Given the description of an element on the screen output the (x, y) to click on. 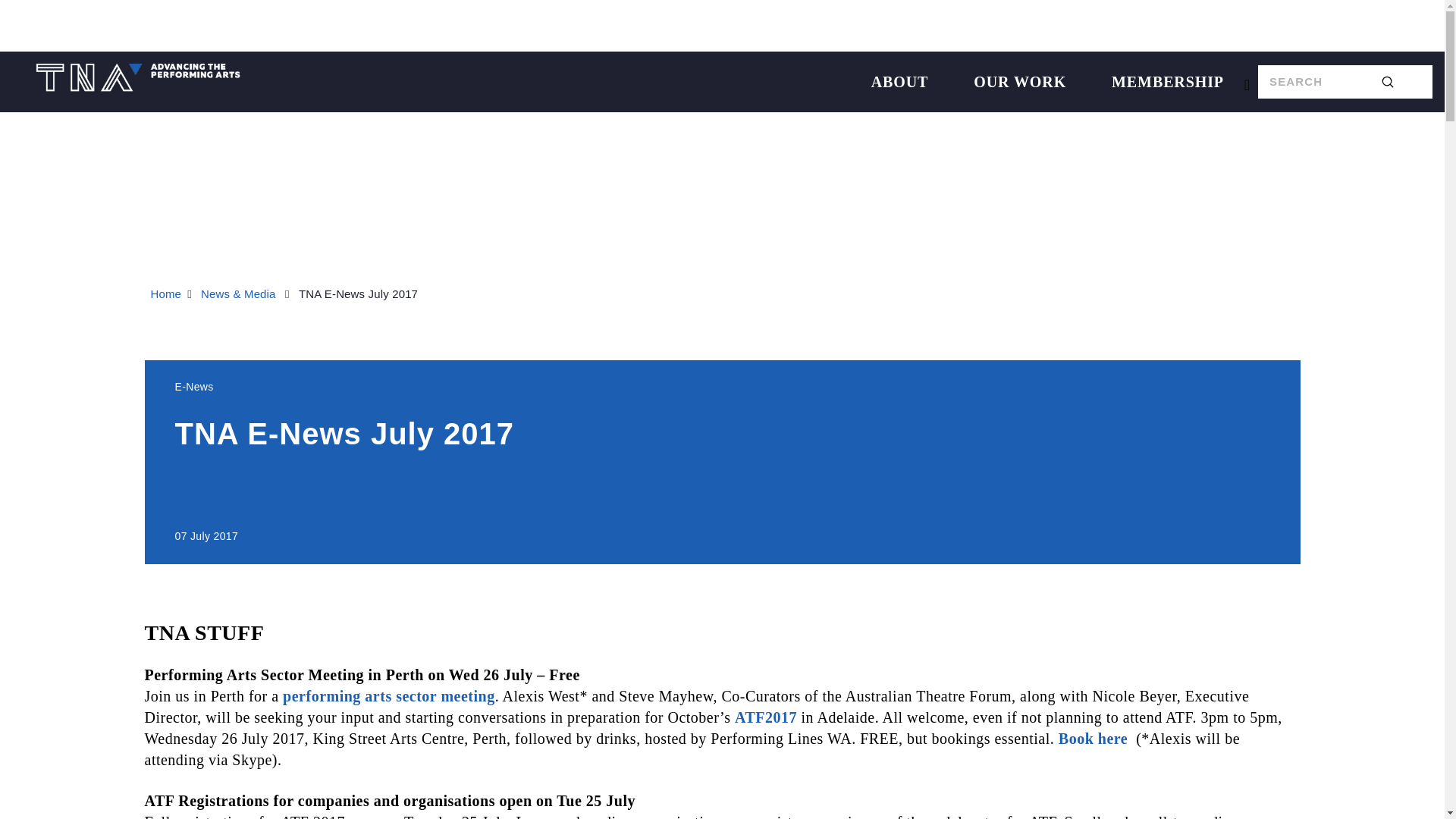
Donate (762, 25)
News (539, 25)
Member Login (999, 25)
Gatherings (648, 25)
Email us (869, 25)
